Given the description of an element on the screen output the (x, y) to click on. 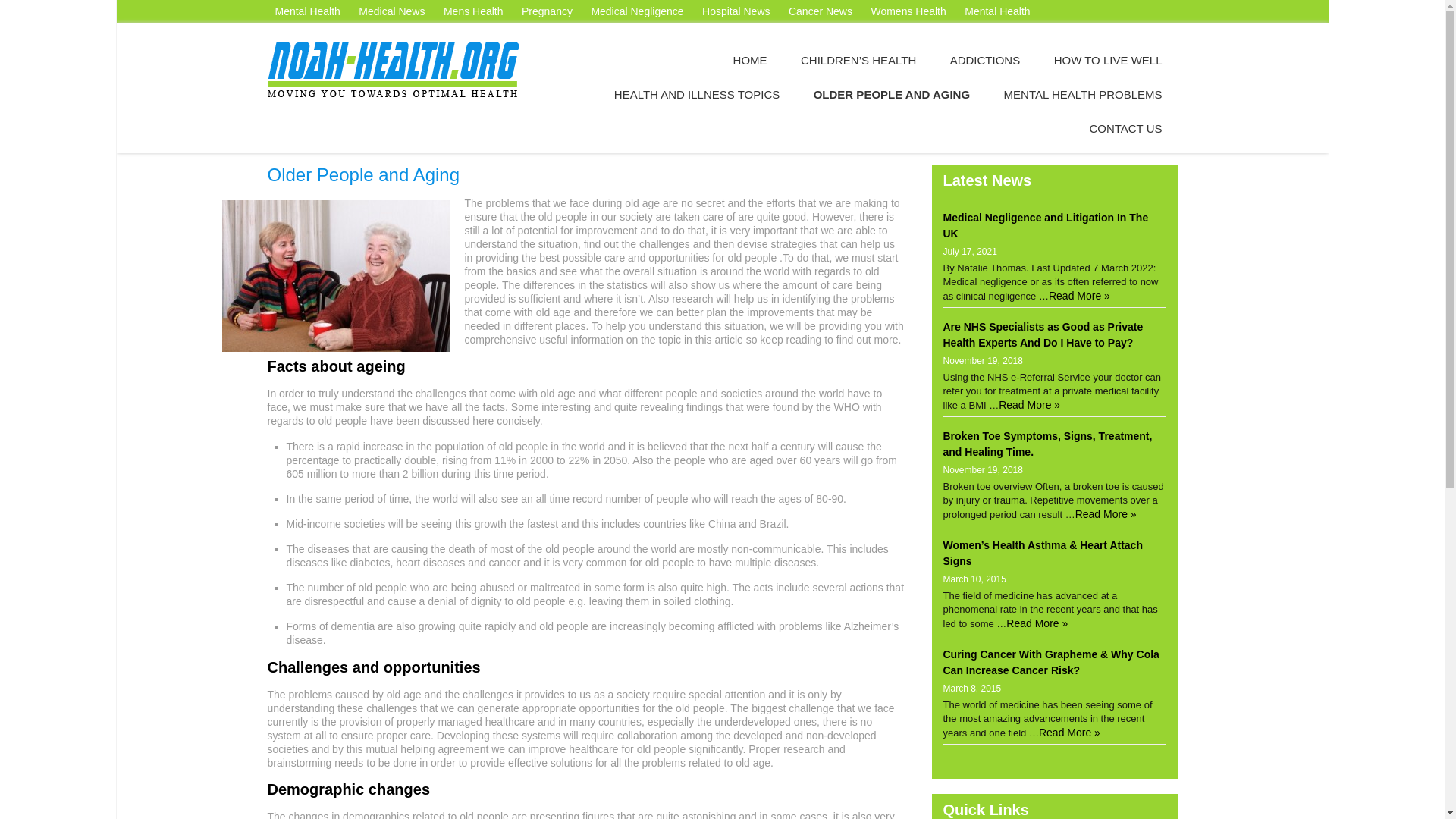
Medical News (391, 11)
Medical Negligence (636, 11)
Cancer News (820, 11)
Mental Health (306, 11)
HOW TO LIVE WELL (1108, 59)
Hospital News (735, 11)
HEALTH AND ILLNESS TOPICS (696, 93)
HOME (750, 59)
Mens Health (473, 11)
Permalink to Medical Negligence and Litigation In The UK (1045, 225)
OLDER PEOPLE AND AGING (891, 93)
Mental Health (996, 11)
